Given the description of an element on the screen output the (x, y) to click on. 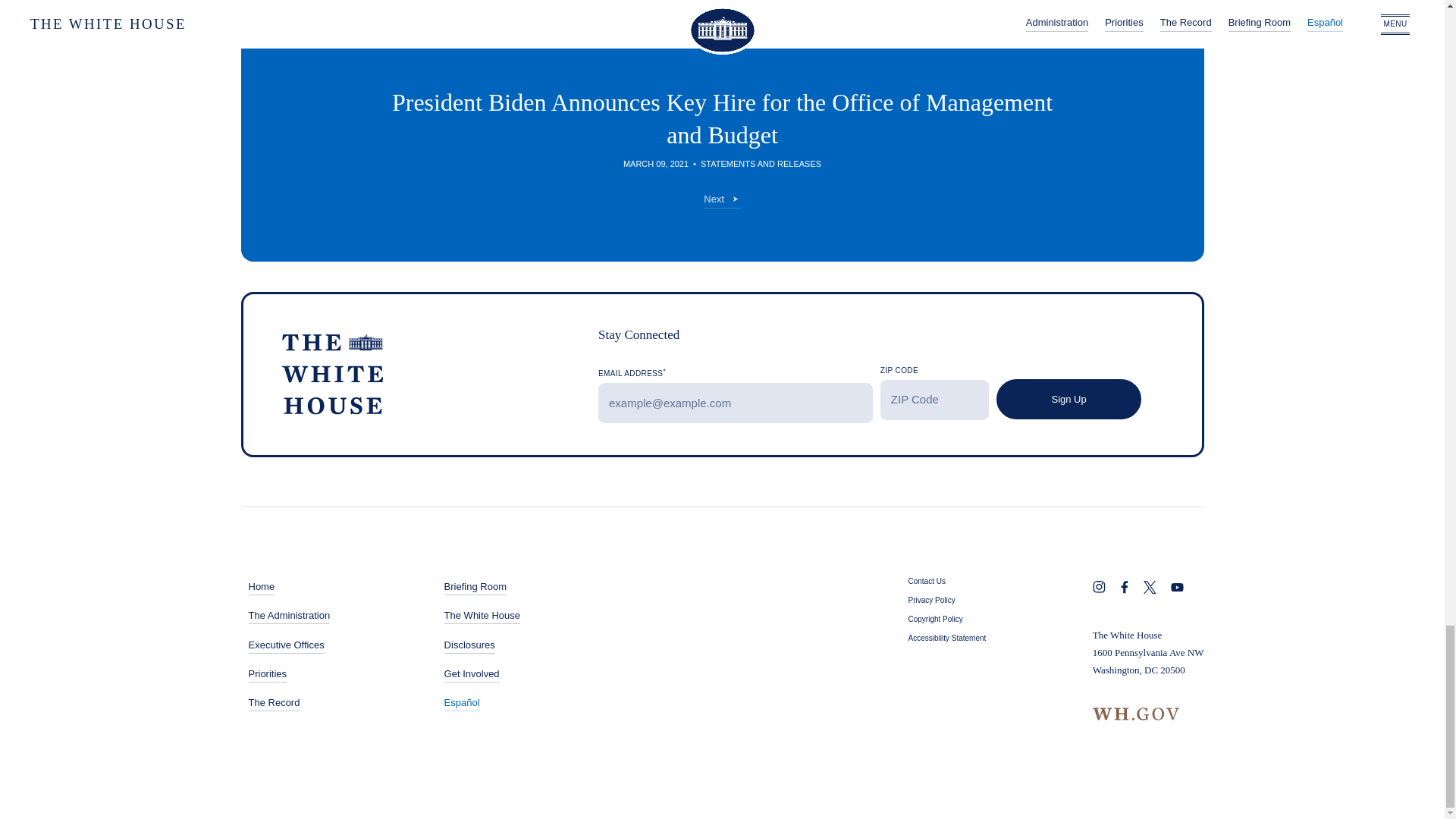
Sign Up (1068, 399)
